Given the description of an element on the screen output the (x, y) to click on. 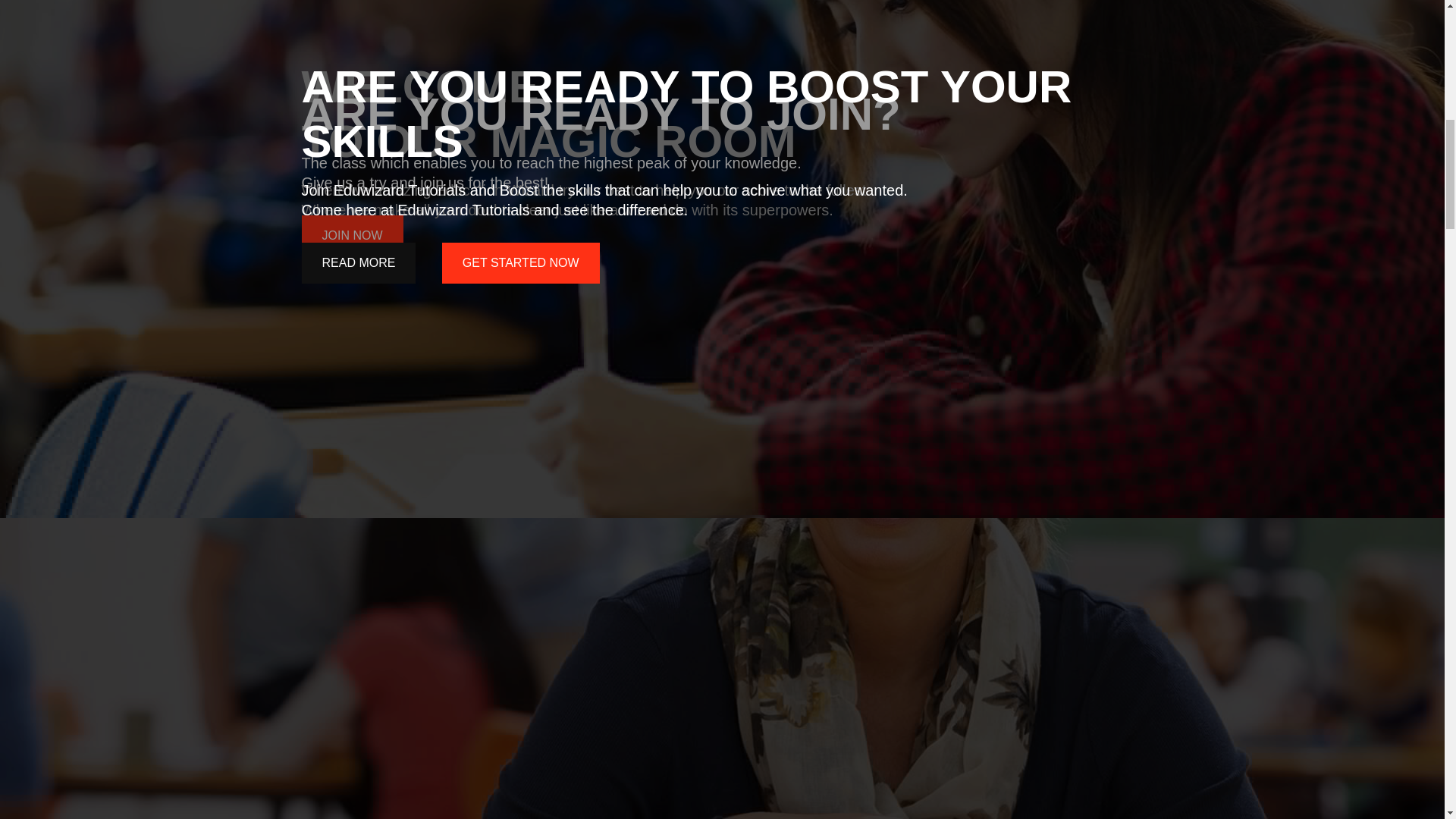
GET STARTED NOW (520, 262)
JOIN NOW (352, 235)
JOIN NOW (352, 262)
READ MORE (358, 262)
